Given the description of an element on the screen output the (x, y) to click on. 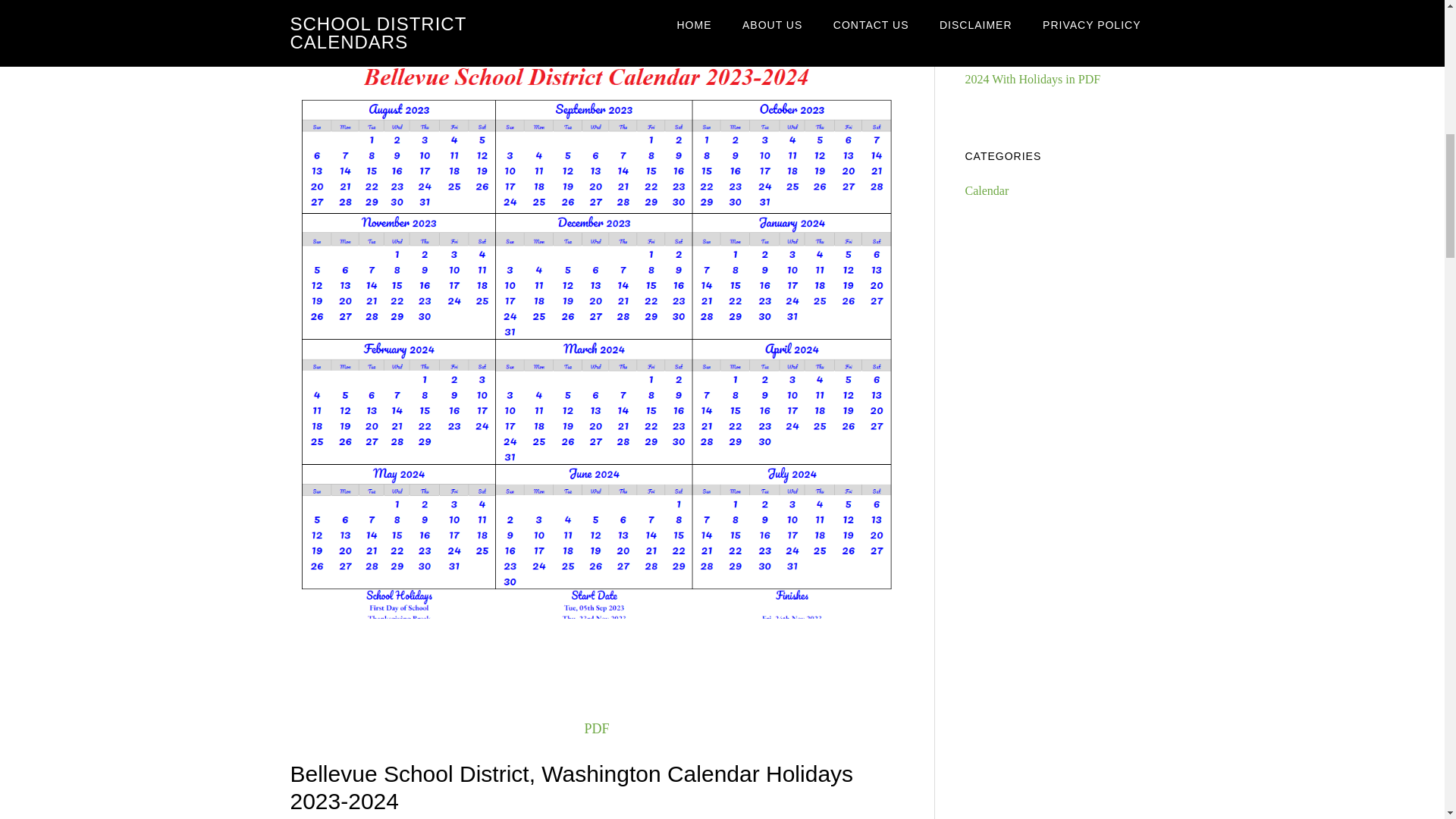
PDF (595, 728)
